Given the description of an element on the screen output the (x, y) to click on. 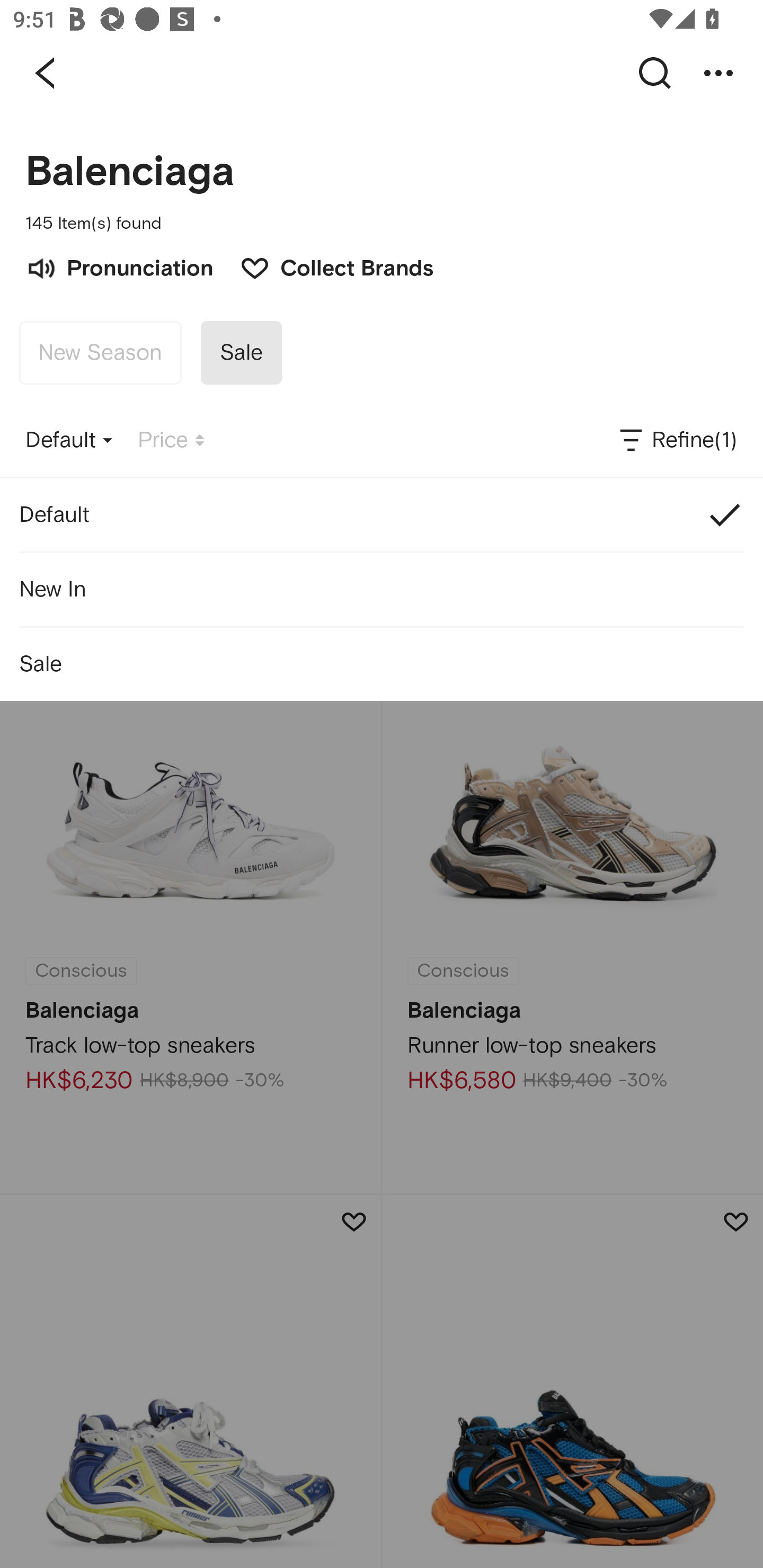
Pronunciation (119, 266)
Collect Brands (327, 266)
New Season (100, 352)
Sale (240, 352)
Default (68, 440)
Price (171, 440)
Refine(1) (677, 440)
Default (381, 514)
New In (381, 588)
Sale (381, 663)
